Given the description of an element on the screen output the (x, y) to click on. 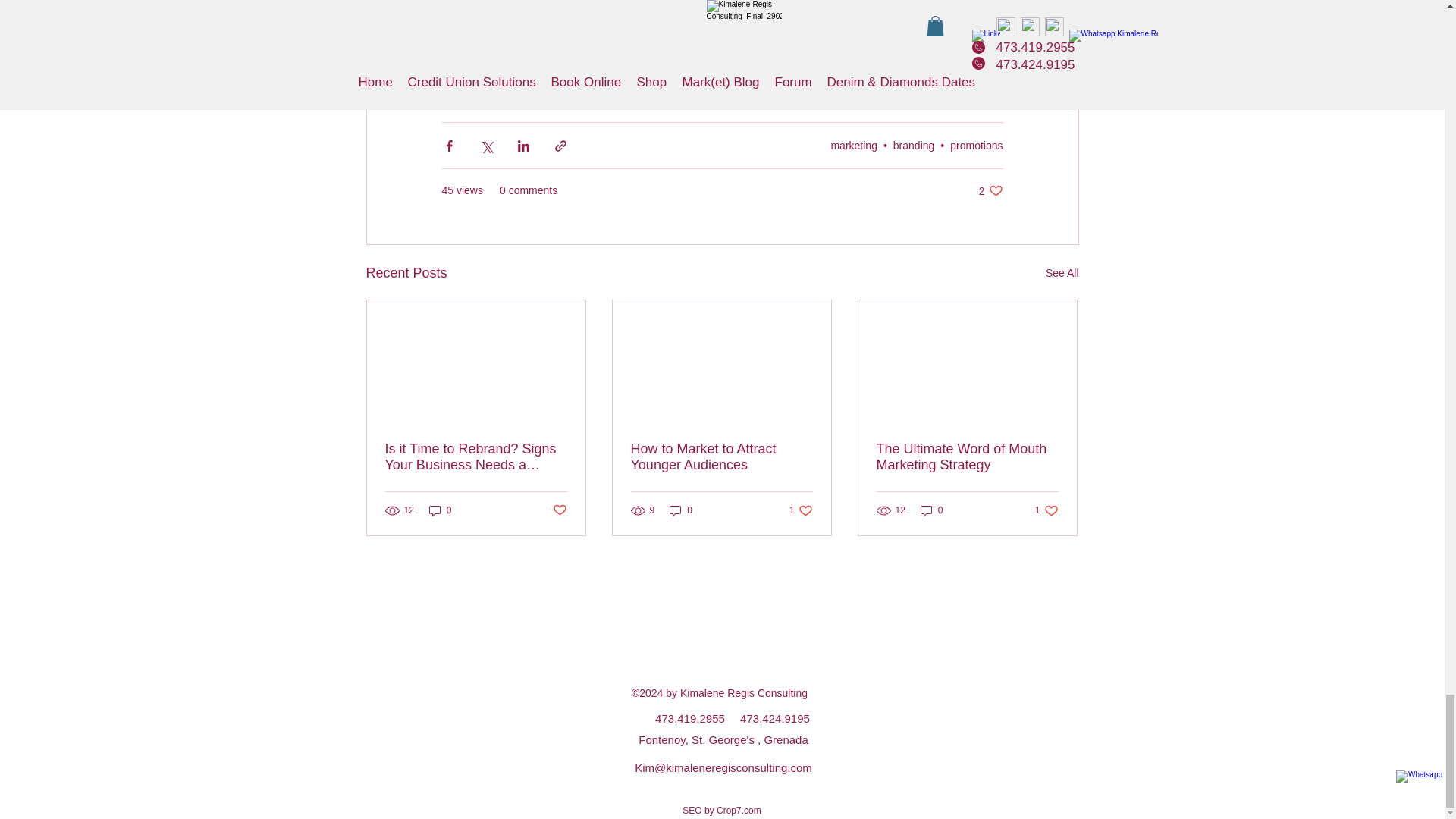
KimaleneRegisConsulting (656, 29)
marketing tips (484, 29)
brand (557, 29)
advertising (943, 29)
business strategy (851, 29)
branding (763, 29)
